Given the description of an element on the screen output the (x, y) to click on. 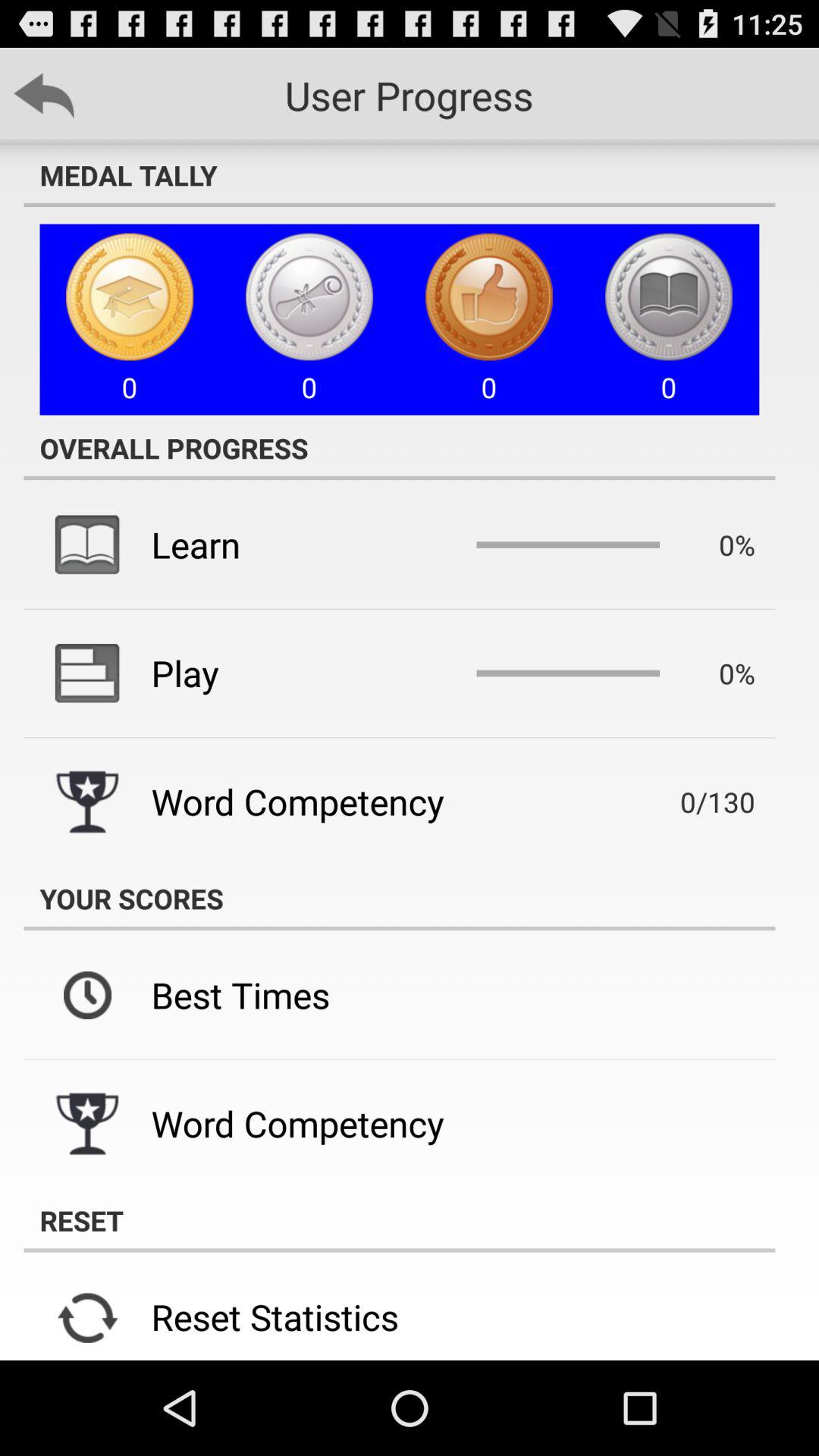
swipe until the medal tally (399, 175)
